Given the description of an element on the screen output the (x, y) to click on. 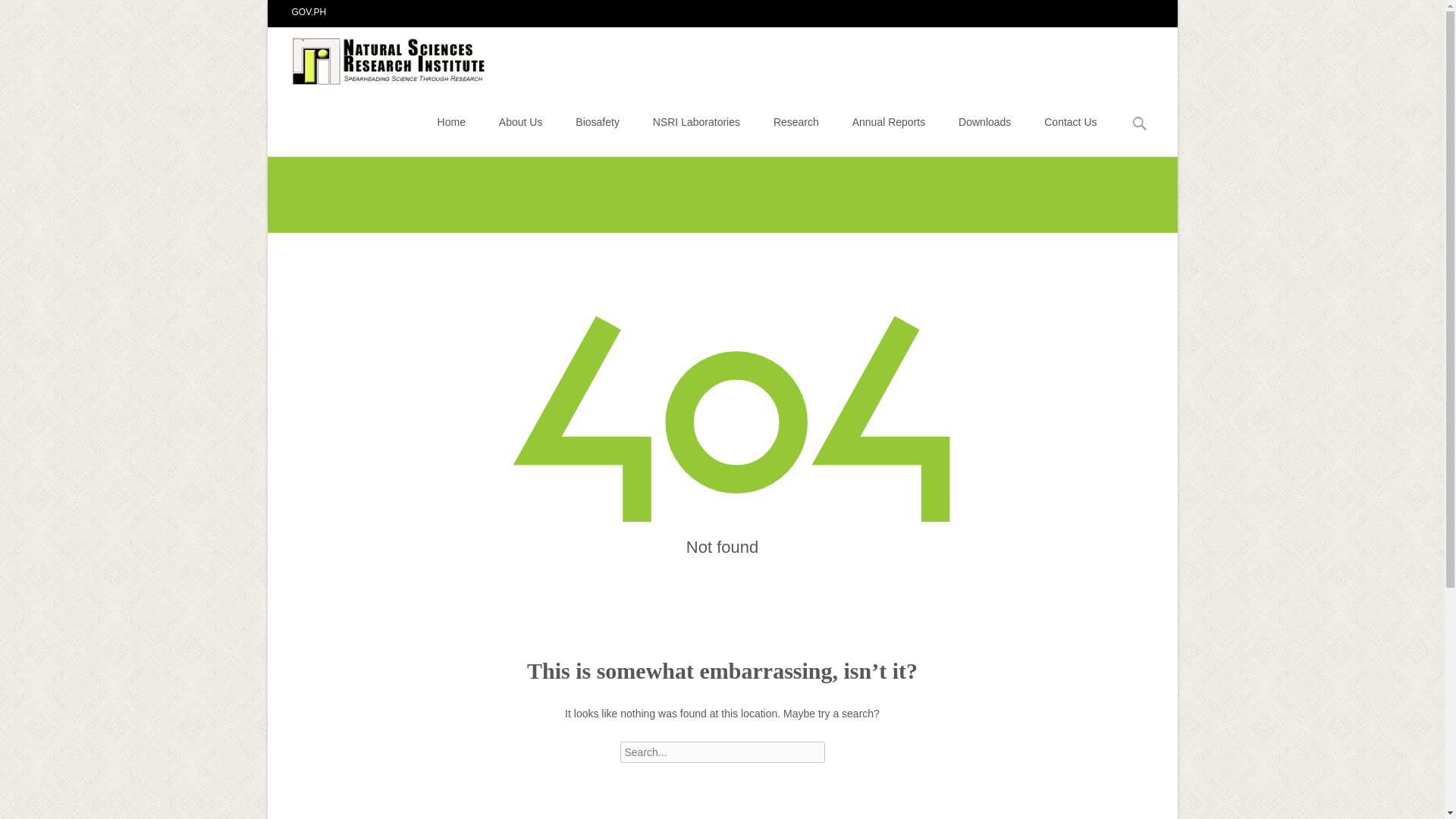
NSRI Laboratories (695, 121)
Search for: (722, 752)
Search for: (1139, 123)
GOV.PH (308, 11)
Search (18, 14)
Natural Sciences Research Institute (378, 57)
Search (34, 14)
Annual Reports (888, 121)
